Given the description of an element on the screen output the (x, y) to click on. 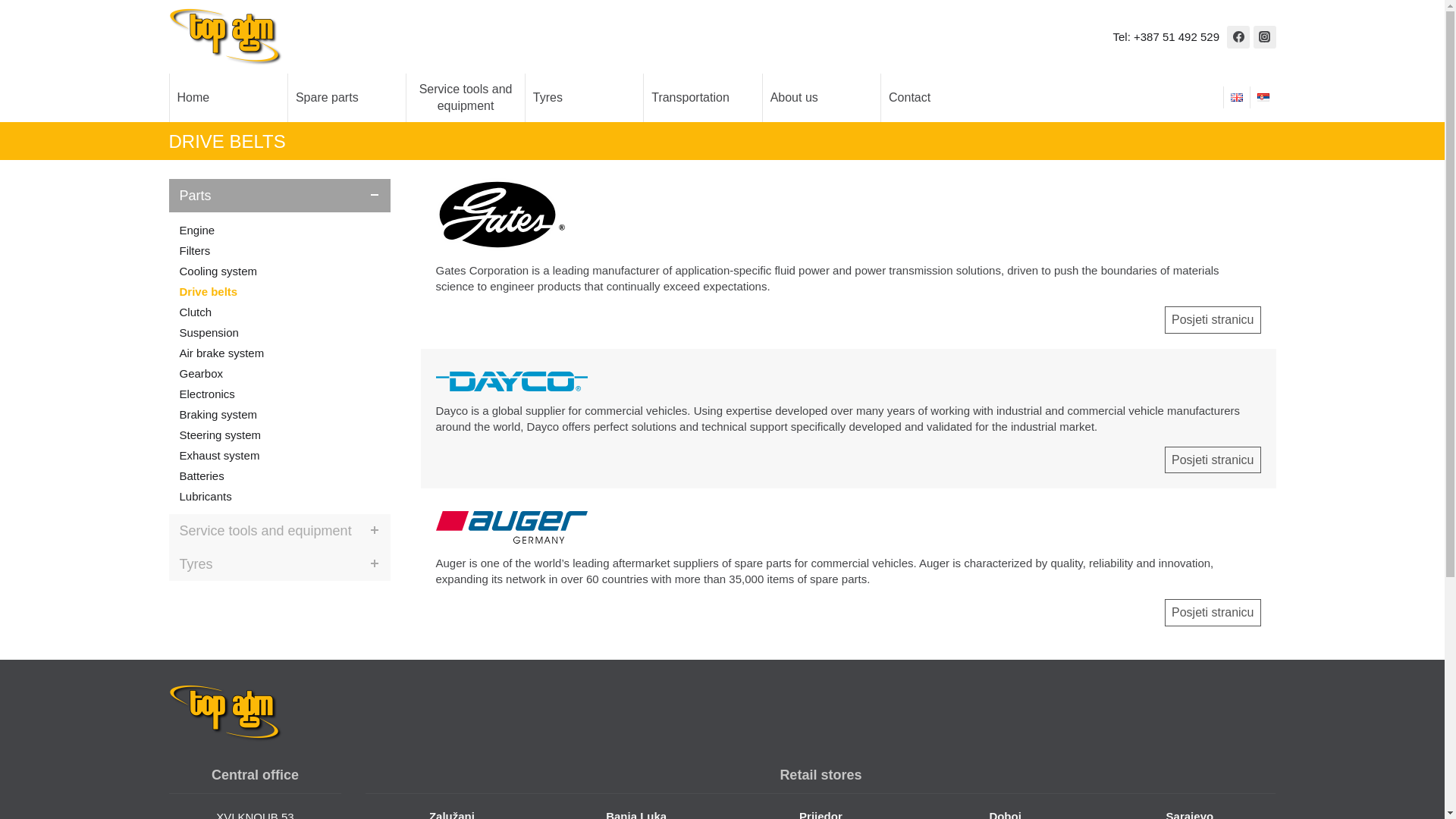
About us (821, 97)
Clutch (279, 312)
Cooling system (279, 271)
Home (228, 97)
Posjeti stranicu (1212, 319)
Batteries (279, 476)
Contact (939, 97)
Service tools and equipment (279, 530)
Suspension (279, 332)
Filters (279, 250)
Service tools and equipment (465, 97)
Tyres (279, 563)
Electronics (279, 394)
Drive belts (279, 291)
Lubricants (279, 496)
